Given the description of an element on the screen output the (x, y) to click on. 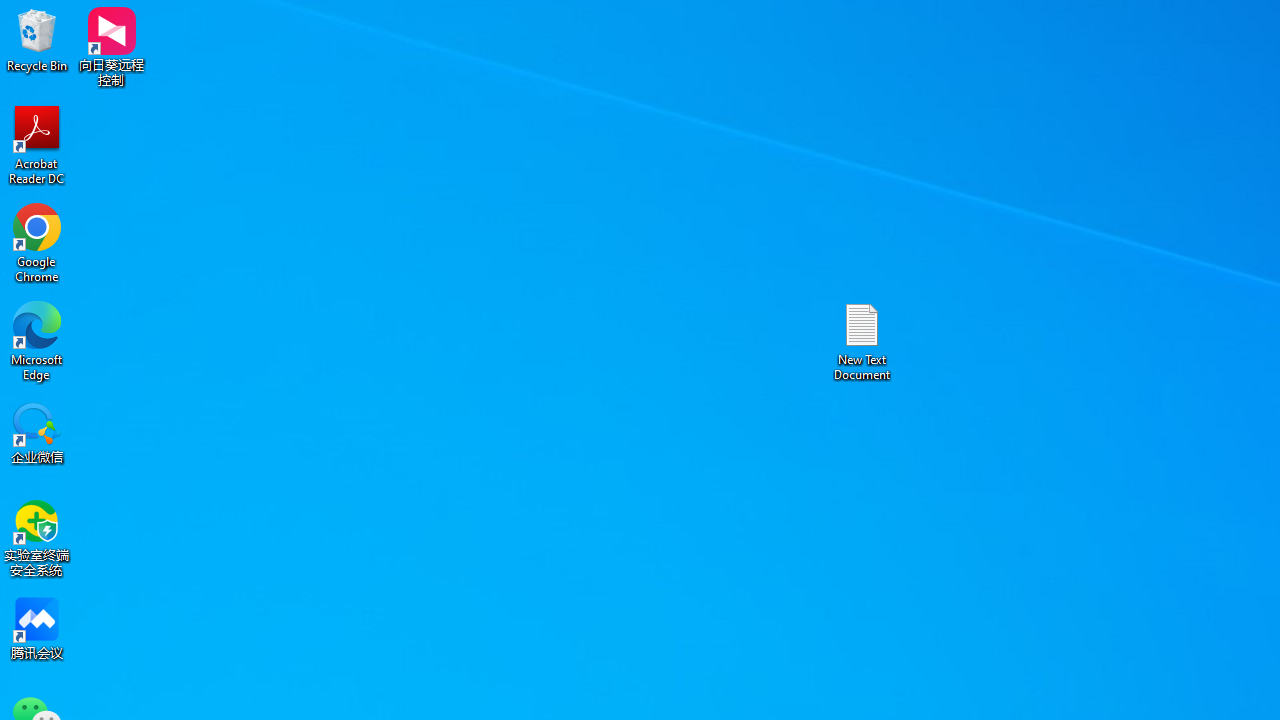
Recycle Bin (37, 39)
Google Chrome (37, 242)
Acrobat Reader DC (37, 144)
New Text Document (861, 340)
